Given the description of an element on the screen output the (x, y) to click on. 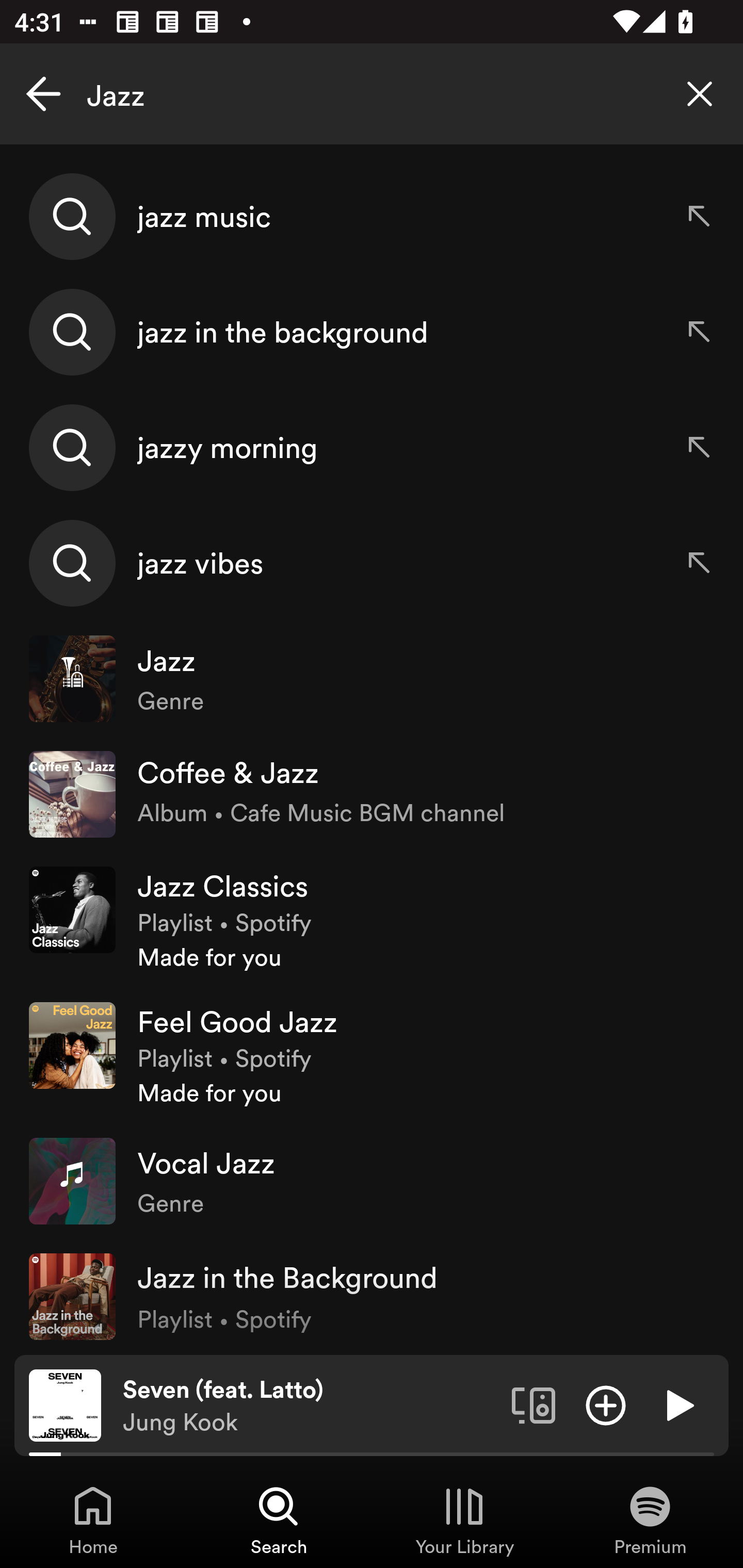
Jazz (371, 93)
Cancel (43, 93)
Clear search query (699, 93)
jazz music (371, 216)
jazz in the background (371, 332)
jazzy morning (371, 447)
jazz vibes (371, 562)
Jazz Genre (371, 678)
Coffee & Jazz Album • Cafe Music BGM channel (371, 793)
Jazz Classics Playlist • Spotify Made for you (371, 919)
Feel Good Jazz Playlist • Spotify Made for you (371, 1054)
Vocal Jazz Genre (371, 1180)
Jazz in the Background Playlist • Spotify (371, 1296)
Seven (feat. Latto) Jung Kook (309, 1405)
The cover art of the currently playing track (64, 1404)
Connect to a device. Opens the devices menu (533, 1404)
Add item (605, 1404)
Play (677, 1404)
Home, Tab 1 of 4 Home Home (92, 1519)
Search, Tab 2 of 4 Search Search (278, 1519)
Your Library, Tab 3 of 4 Your Library Your Library (464, 1519)
Premium, Tab 4 of 4 Premium Premium (650, 1519)
